Given the description of an element on the screen output the (x, y) to click on. 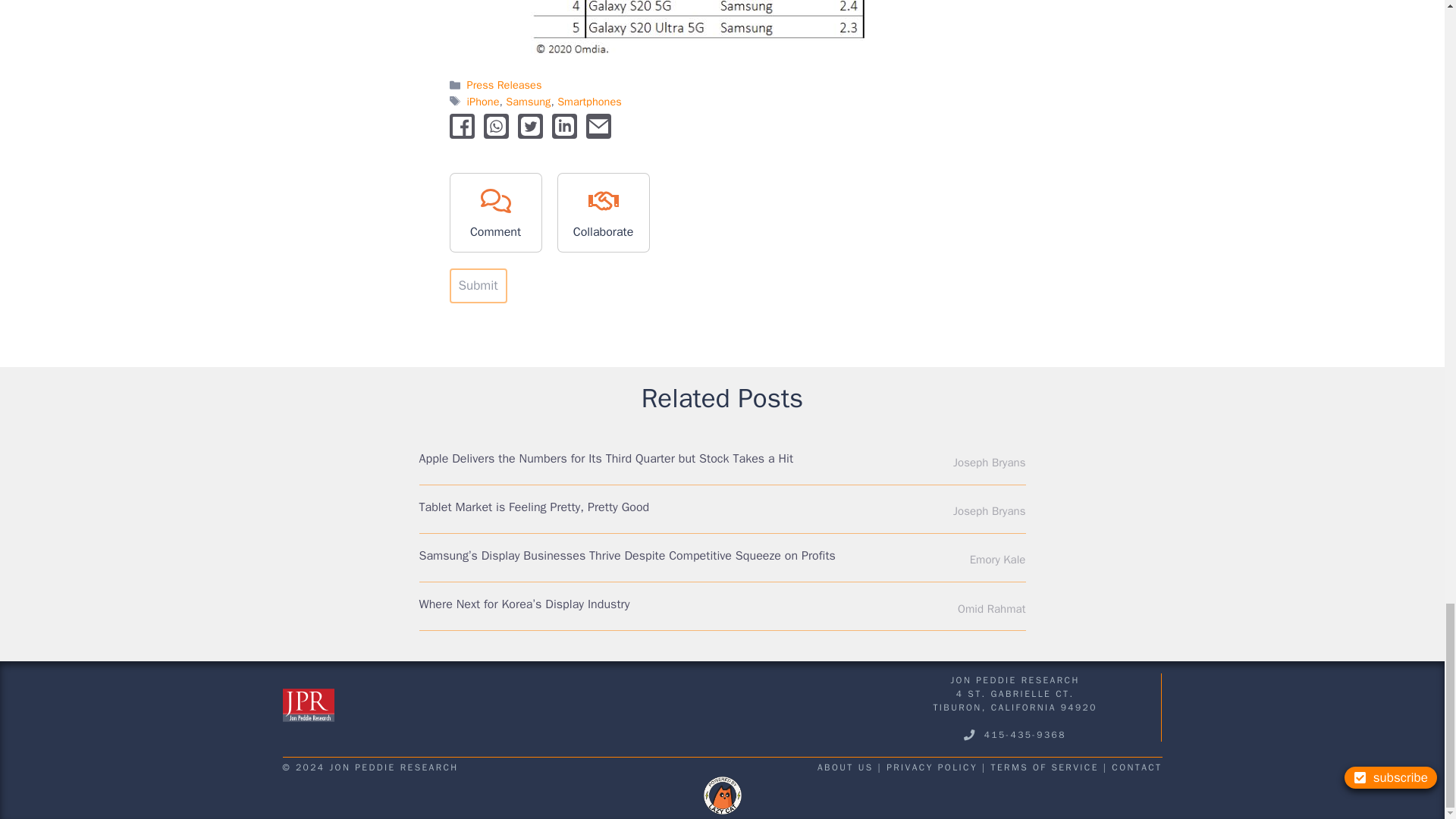
TERMS OF SERVICE (1045, 767)
iPhone (483, 101)
PRIVACY POLICY (931, 767)
Smartphones (589, 101)
CONTACT (1136, 767)
Powered by Lazy Cat Media (722, 795)
Samsung (527, 101)
Press Releases (504, 84)
